Given the description of an element on the screen output the (x, y) to click on. 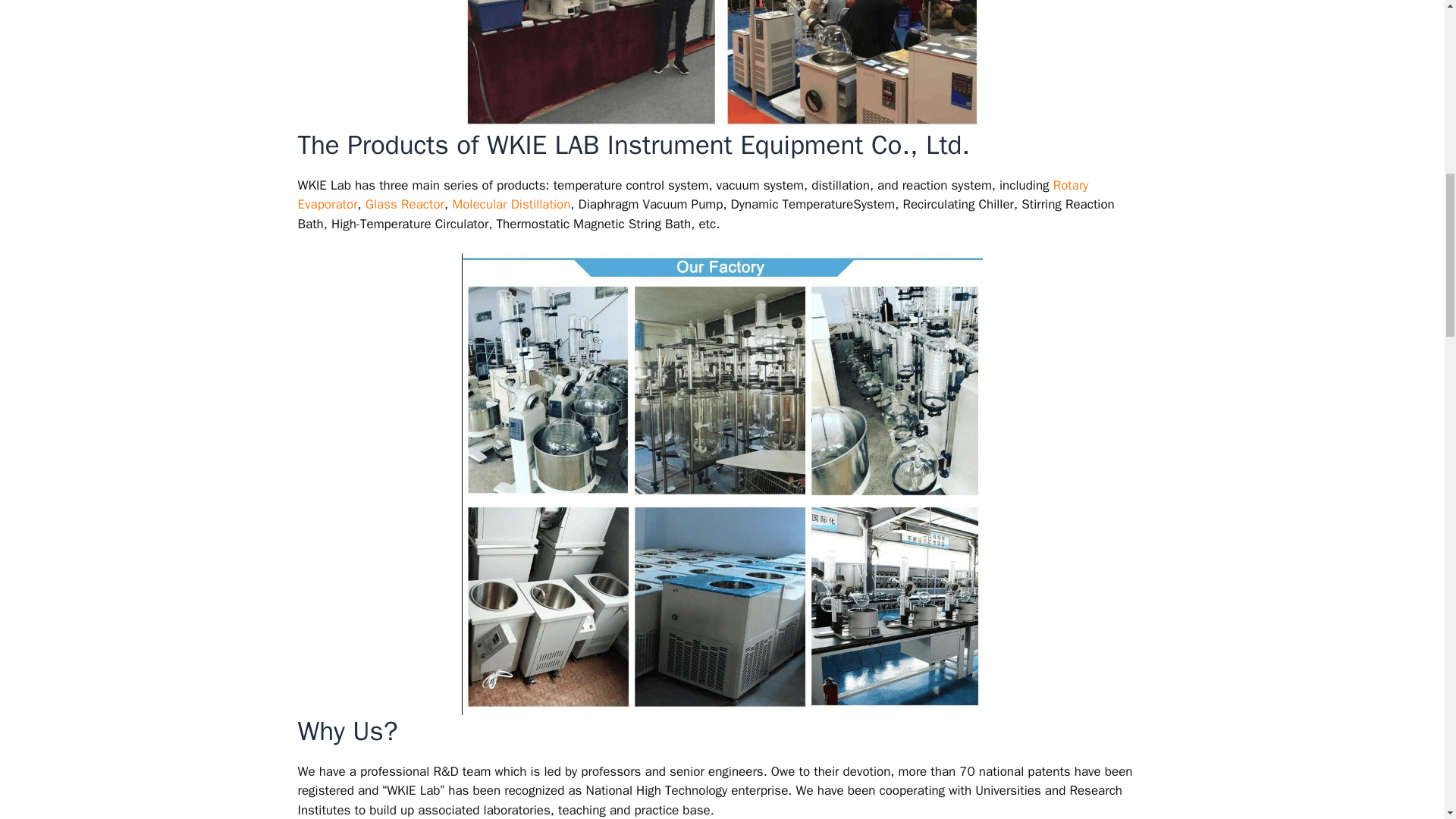
Molecular Distillation (509, 204)
Scroll back to top (1406, 720)
well-known exhibitions (722, 64)
Rotary Evaporator (692, 194)
Glass Reactor (404, 204)
